Given the description of an element on the screen output the (x, y) to click on. 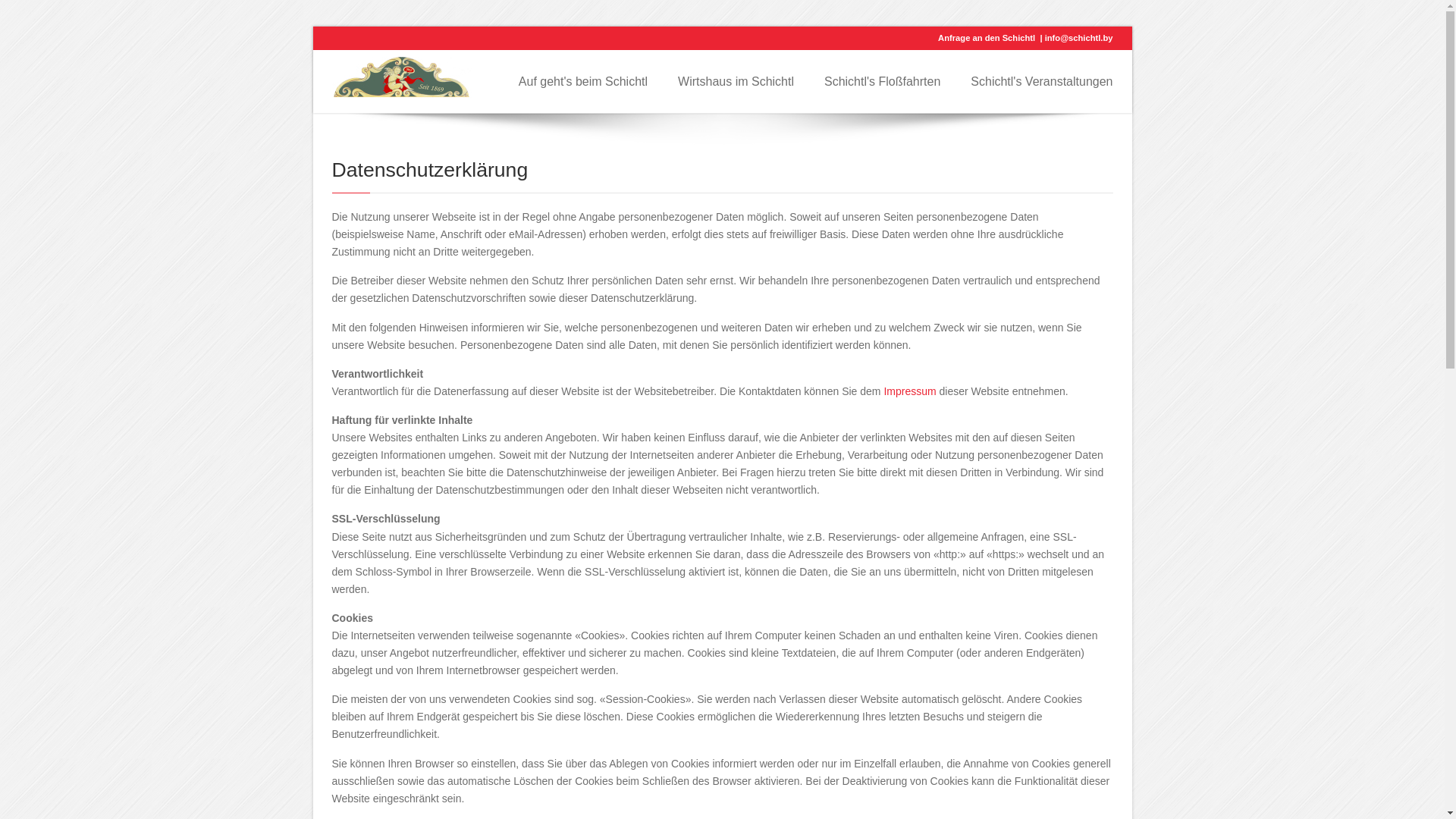
Impressum Element type: text (909, 391)
Anfrage an den Schichtl Element type: text (986, 37)
Auf geht's beim Schichtl Element type: text (582, 81)
Schichtl's Veranstaltungen Element type: text (1041, 81)
info@schichtl.by Element type: text (1078, 37)
Wirtshaus im Schichtl Element type: text (735, 81)
